Given the description of an element on the screen output the (x, y) to click on. 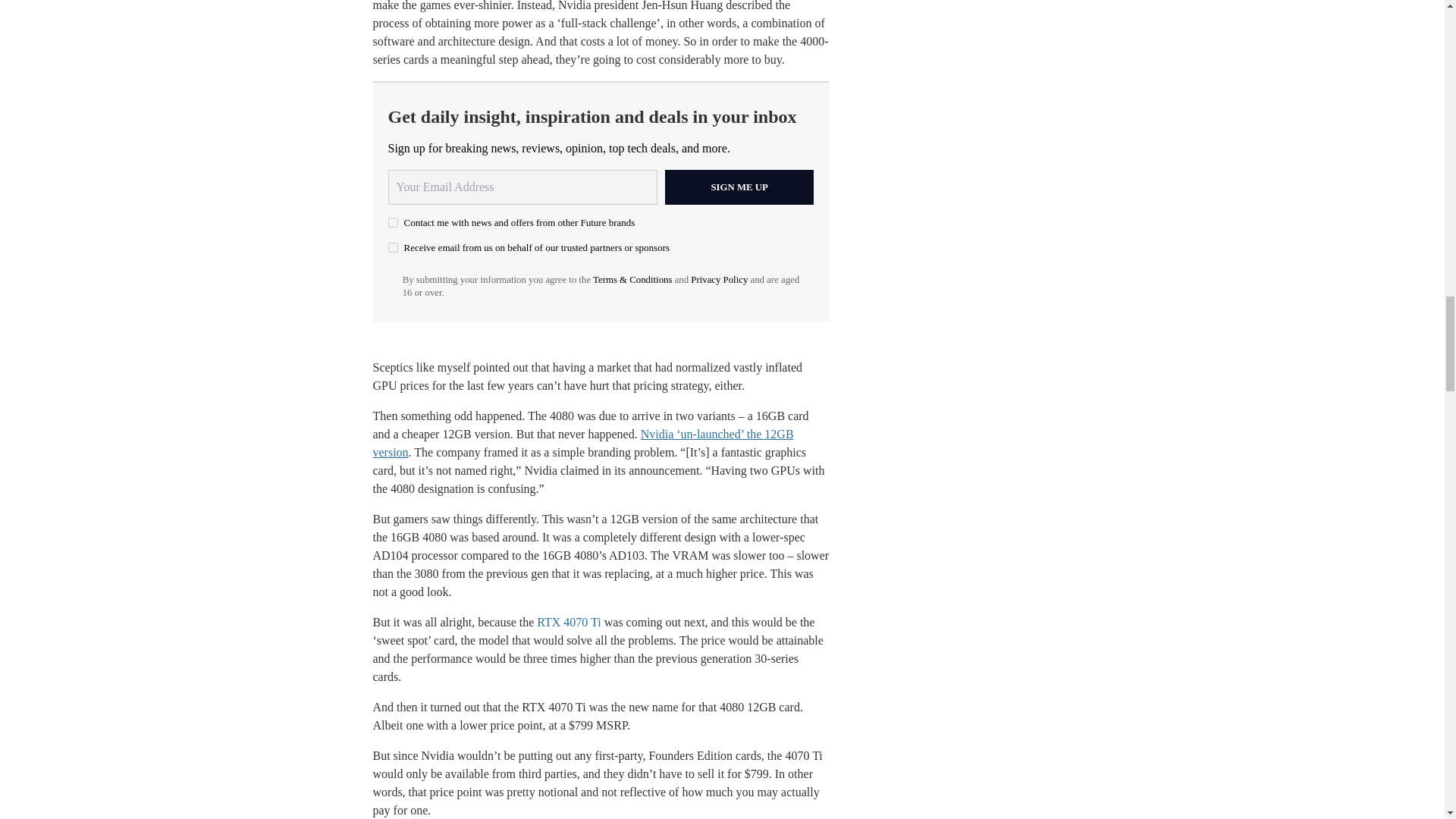
Sign me up (739, 186)
on (392, 222)
on (392, 247)
